Given the description of an element on the screen output the (x, y) to click on. 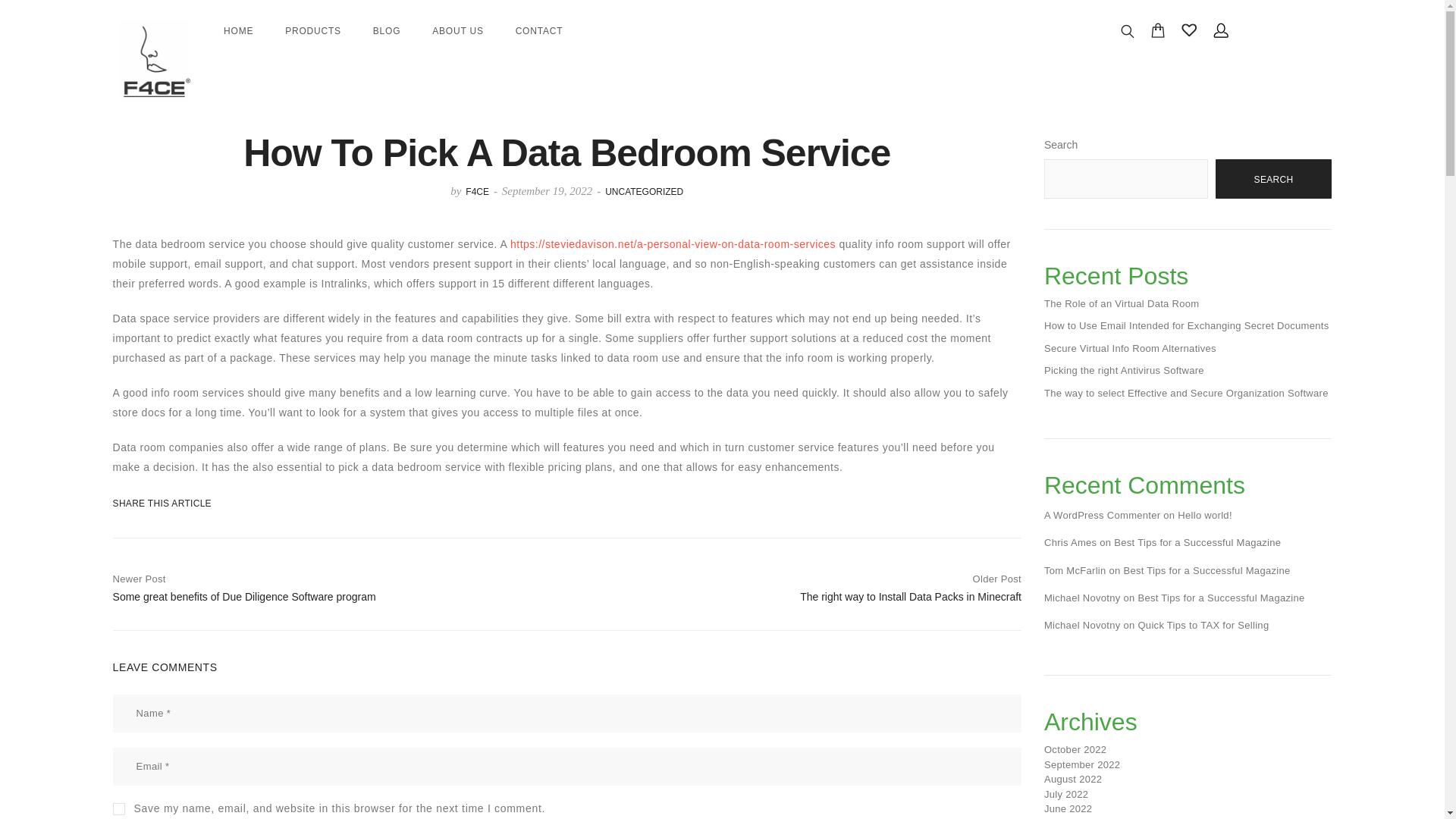
UNCATEGORIZED (643, 191)
SHARE THIS ARTICLE (150, 502)
Hello world! (1204, 514)
The Role of an Virtual Data Room (1120, 303)
SEARCH (1273, 178)
CONTACT (539, 30)
The way to select Effective and Secure Organization Software (1185, 392)
ABOUT US (457, 30)
F4CE (477, 191)
Best Tips for a Successful Magazine (1197, 542)
Secure Virtual Info Room Alternatives (800, 585)
Best Tips for a Successful Magazine (1129, 348)
Best Tips for a Successful Magazine (1220, 597)
